Given the description of an element on the screen output the (x, y) to click on. 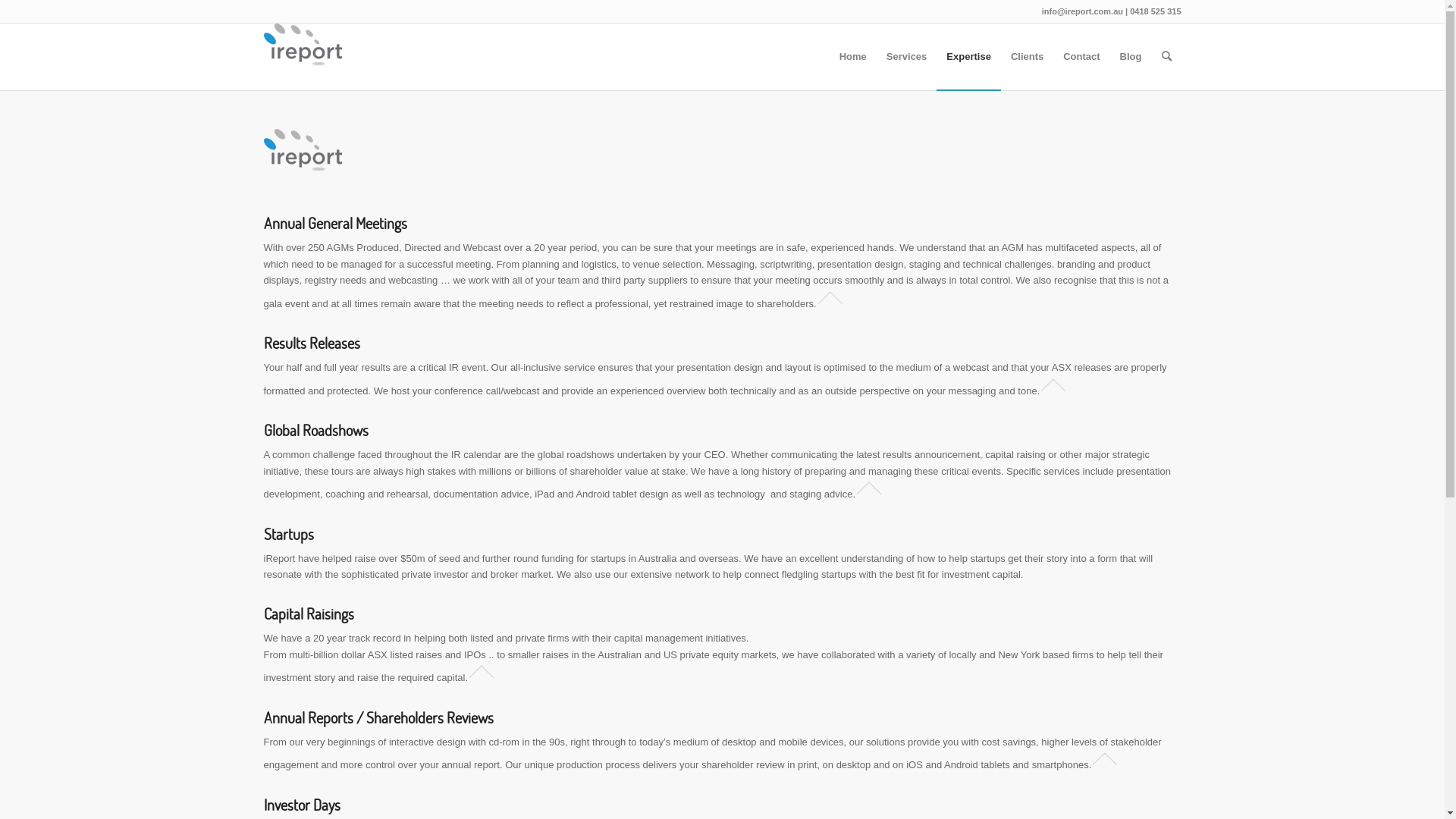
info@ireport.com.au Element type: text (1082, 10)
Contact Element type: text (1081, 56)
Clients Element type: text (1027, 56)
Home Element type: text (852, 56)
ireport-logo Element type: hover (302, 44)
Services Element type: text (906, 56)
Expertise Element type: text (968, 56)
Blog Element type: text (1130, 56)
